Given the description of an element on the screen output the (x, y) to click on. 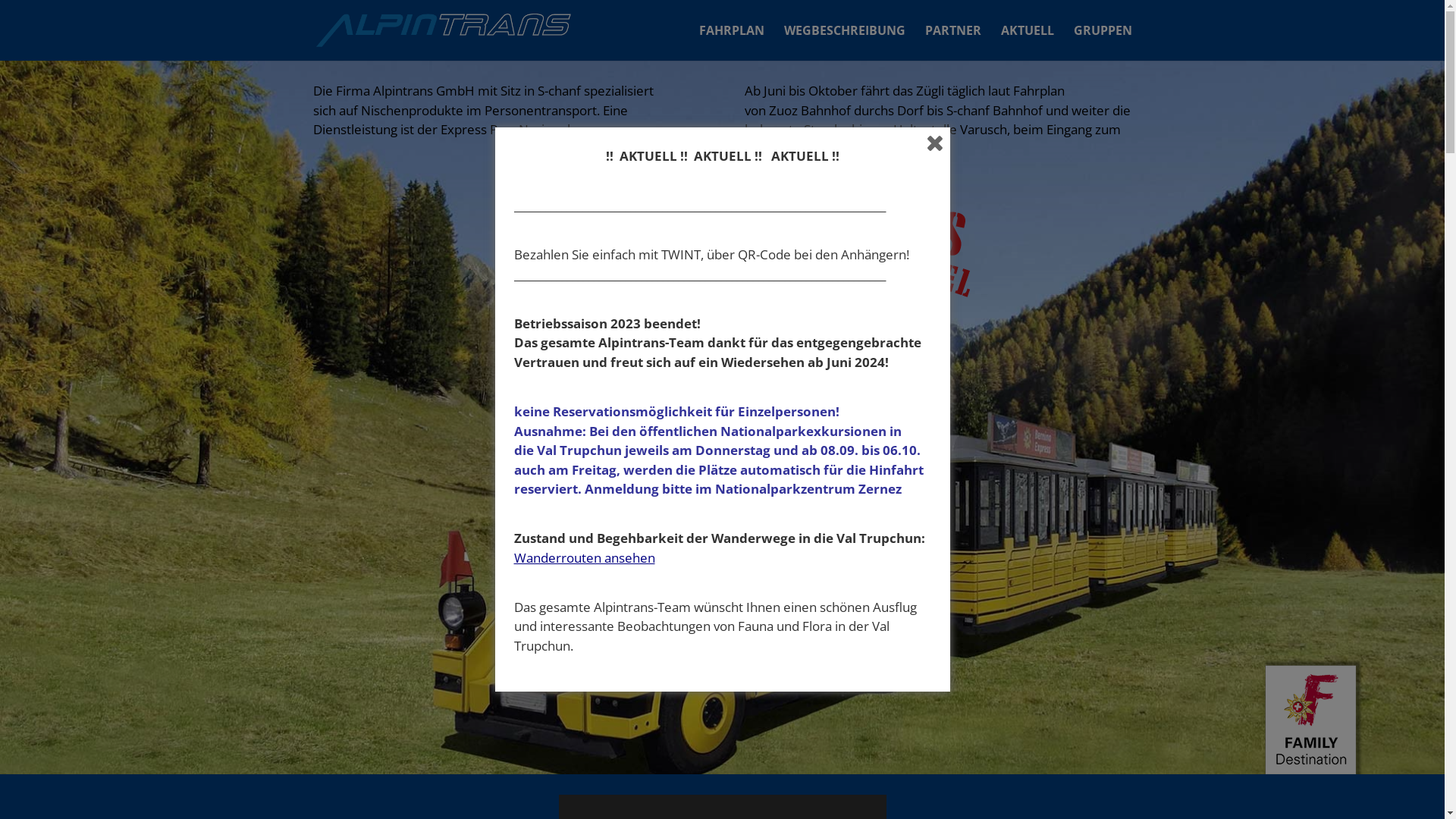
PARTNER Element type: text (953, 42)
WEGBESCHREIBUNG Element type: text (844, 42)
Family-Destination Element type: hover (1314, 715)
GRUPPEN Element type: text (1102, 42)
Wanderrouten ansehen Element type: text (584, 557)
FAHRPLAN Element type: text (731, 42)
AKTUELL Element type: text (1027, 42)
